Given the description of an element on the screen output the (x, y) to click on. 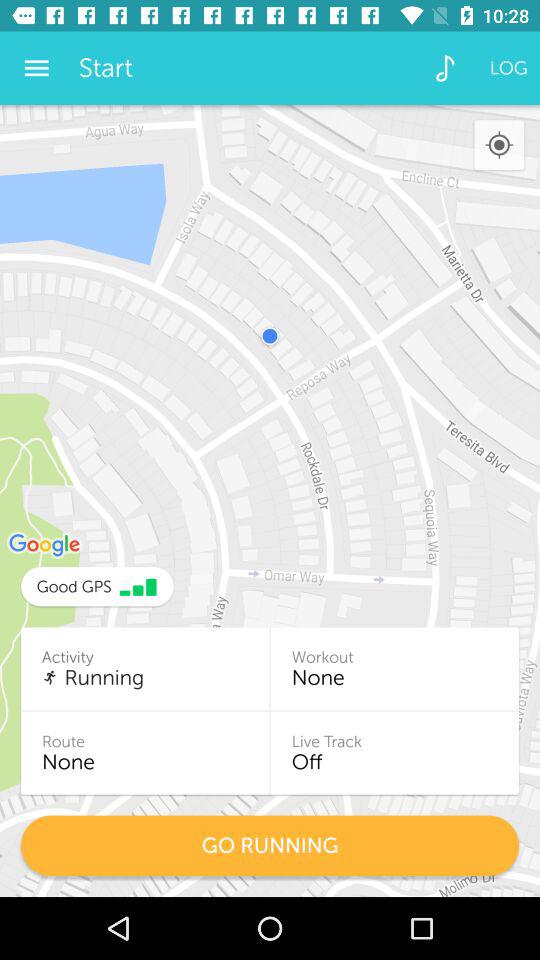
turn off icon next to the log item (444, 67)
